Given the description of an element on the screen output the (x, y) to click on. 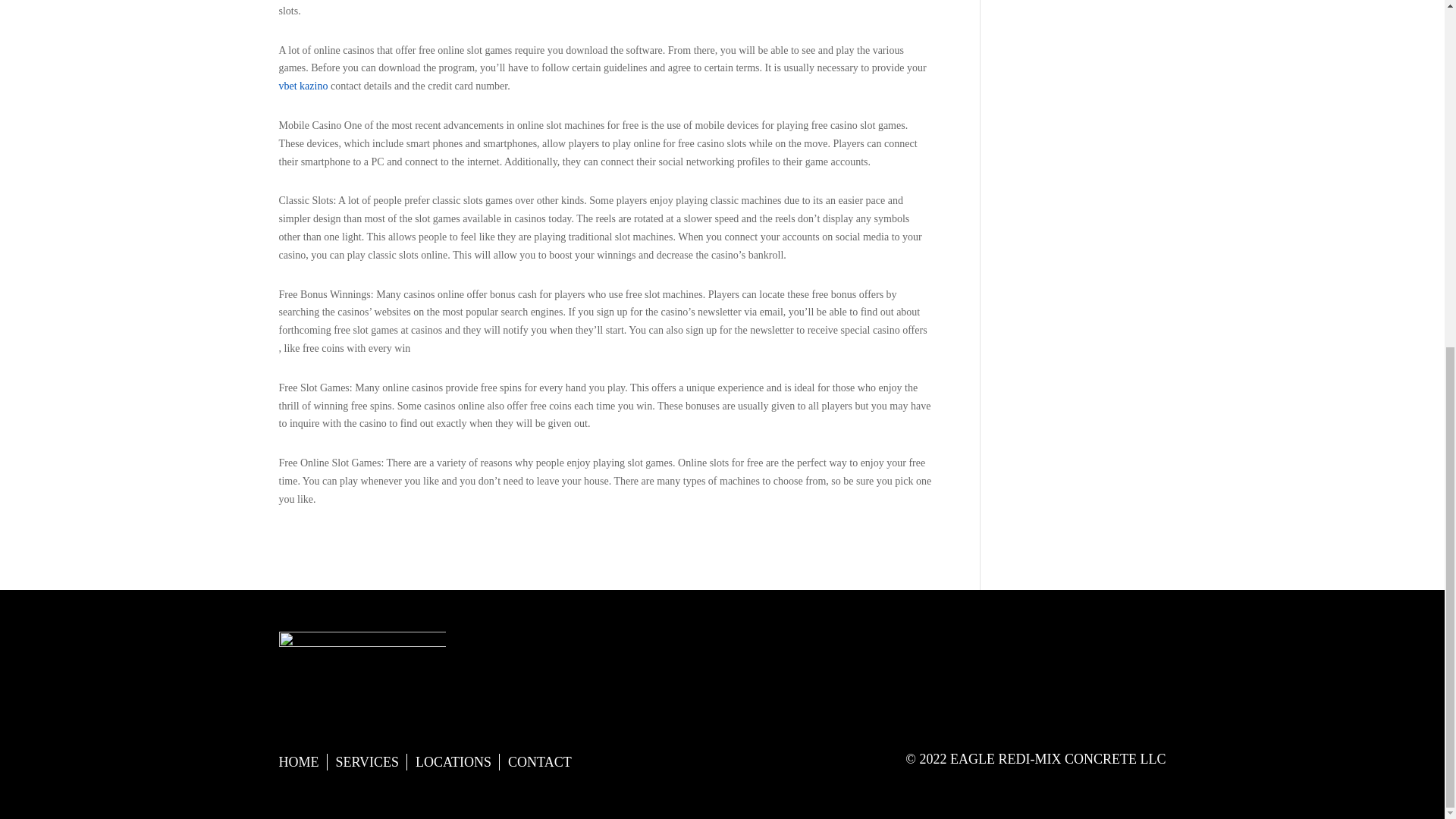
vbet kazino (304, 85)
HOME (298, 764)
SERVICES (366, 764)
CONTACT (540, 764)
LOCATIONS (453, 764)
